Given the description of an element on the screen output the (x, y) to click on. 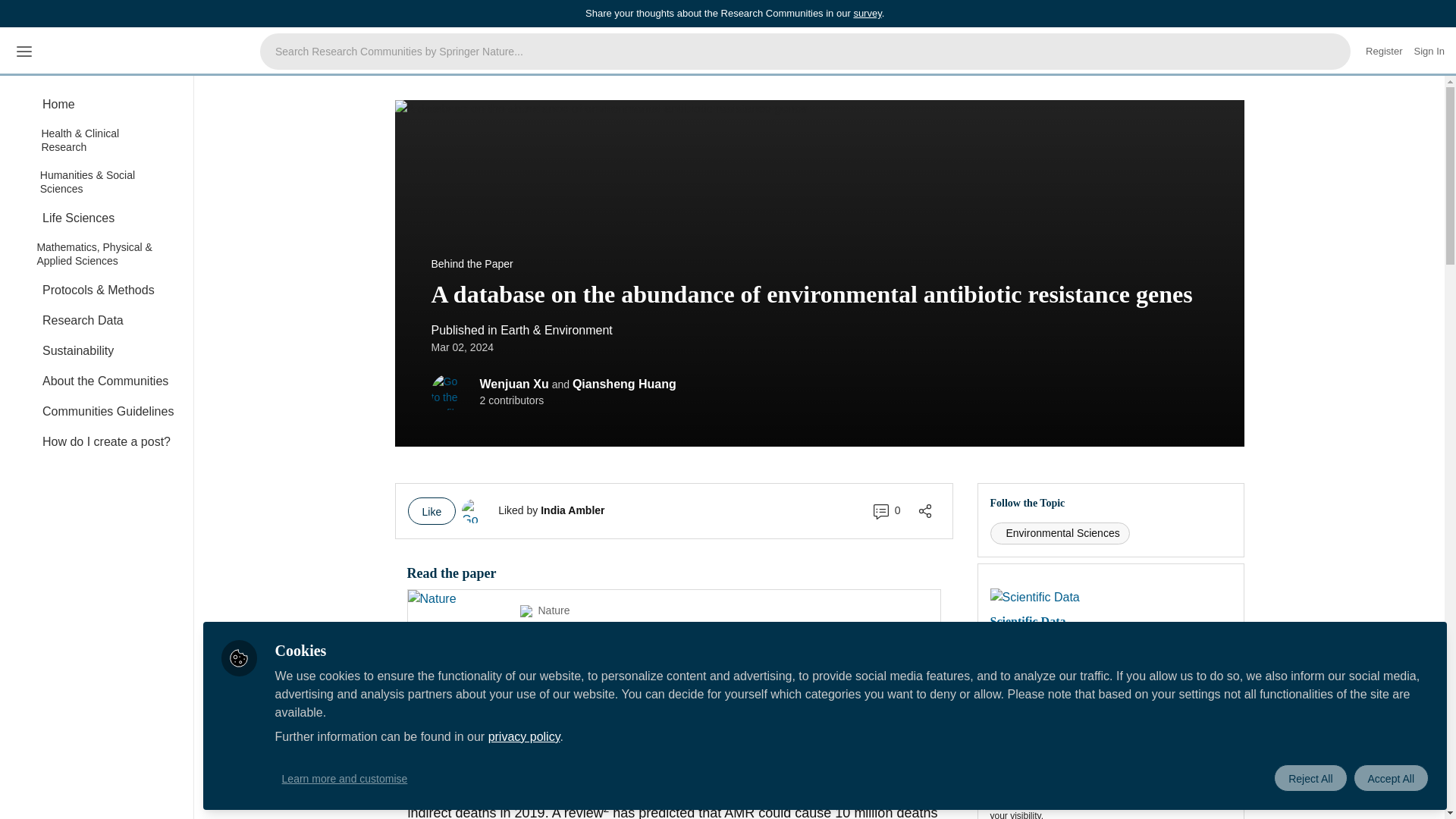
Search (1332, 51)
Life Sciences (96, 217)
Menu (24, 51)
survey (866, 12)
Home (96, 103)
Life Sciences (96, 217)
Home (96, 103)
Research Communities by Springer Nature (146, 51)
